Given the description of an element on the screen output the (x, y) to click on. 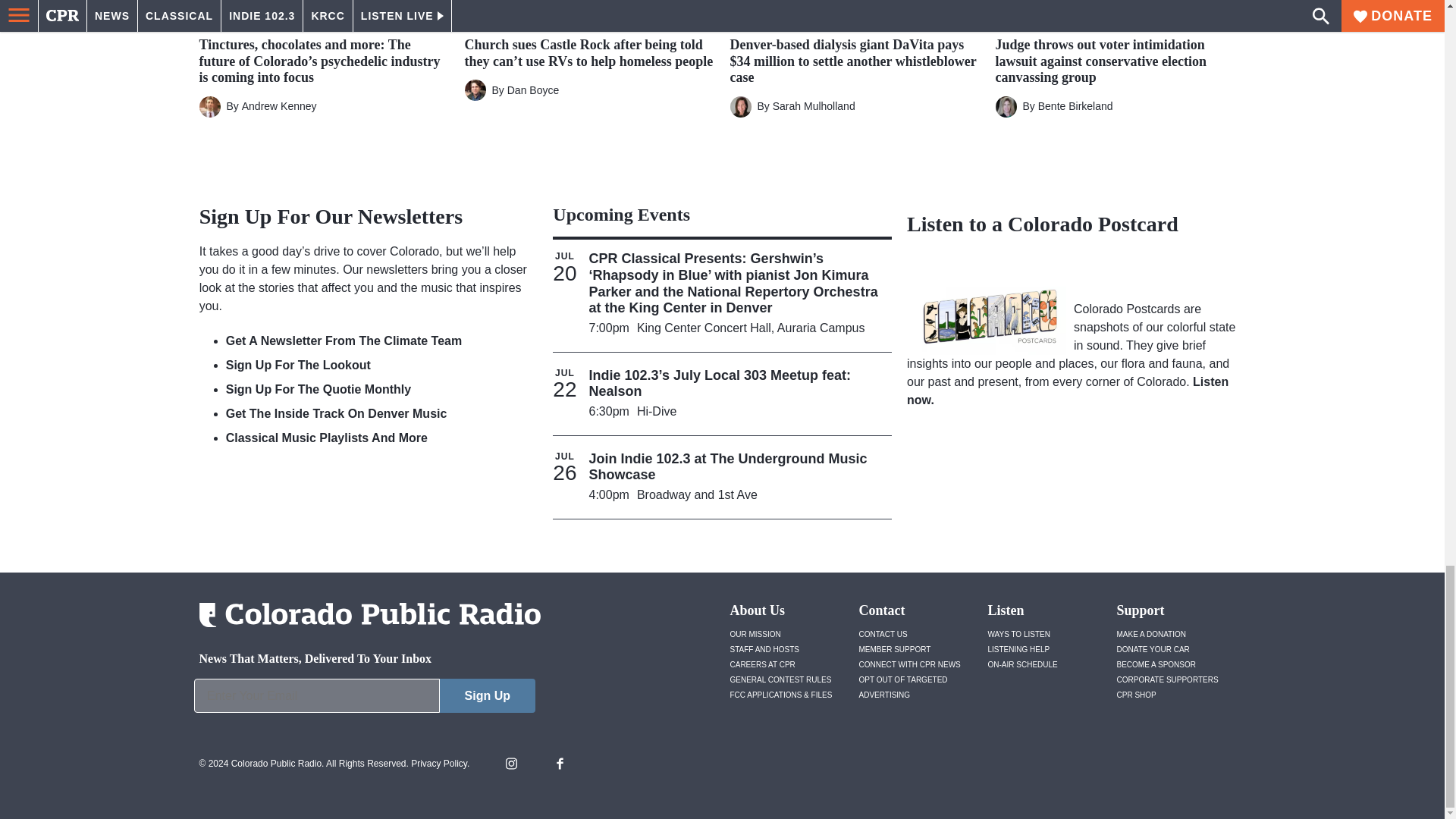
footer (364, 699)
